Given the description of an element on the screen output the (x, y) to click on. 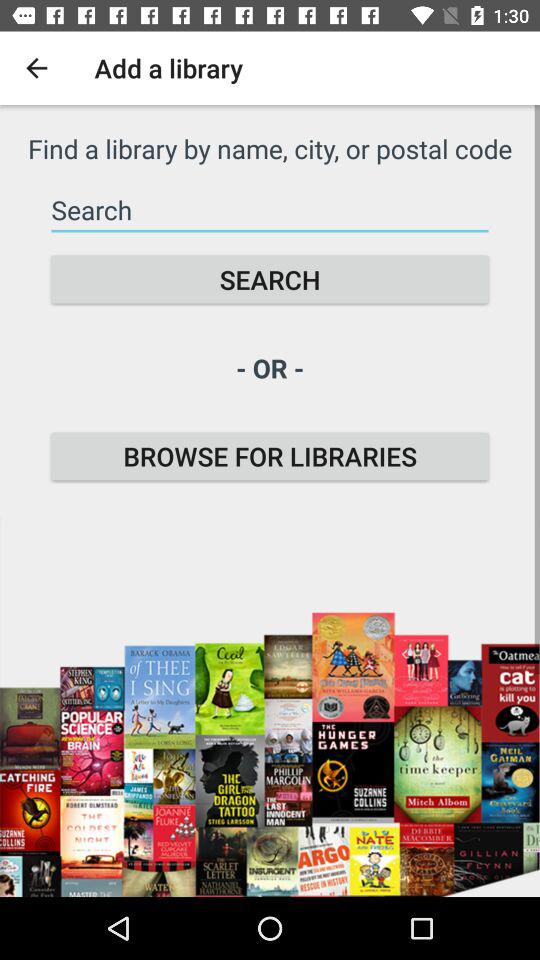
type to search (269, 210)
